Given the description of an element on the screen output the (x, y) to click on. 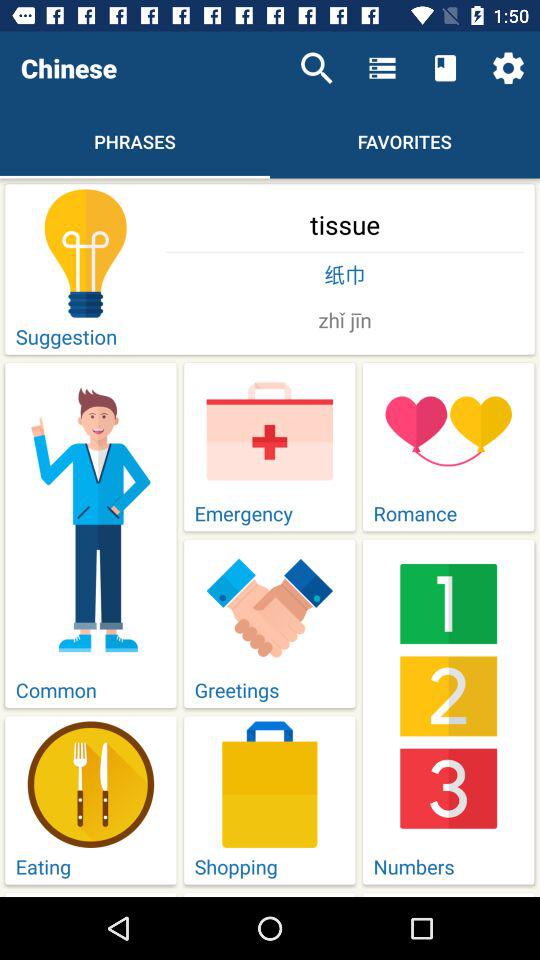
press item above the tissue item (316, 67)
